Given the description of an element on the screen output the (x, y) to click on. 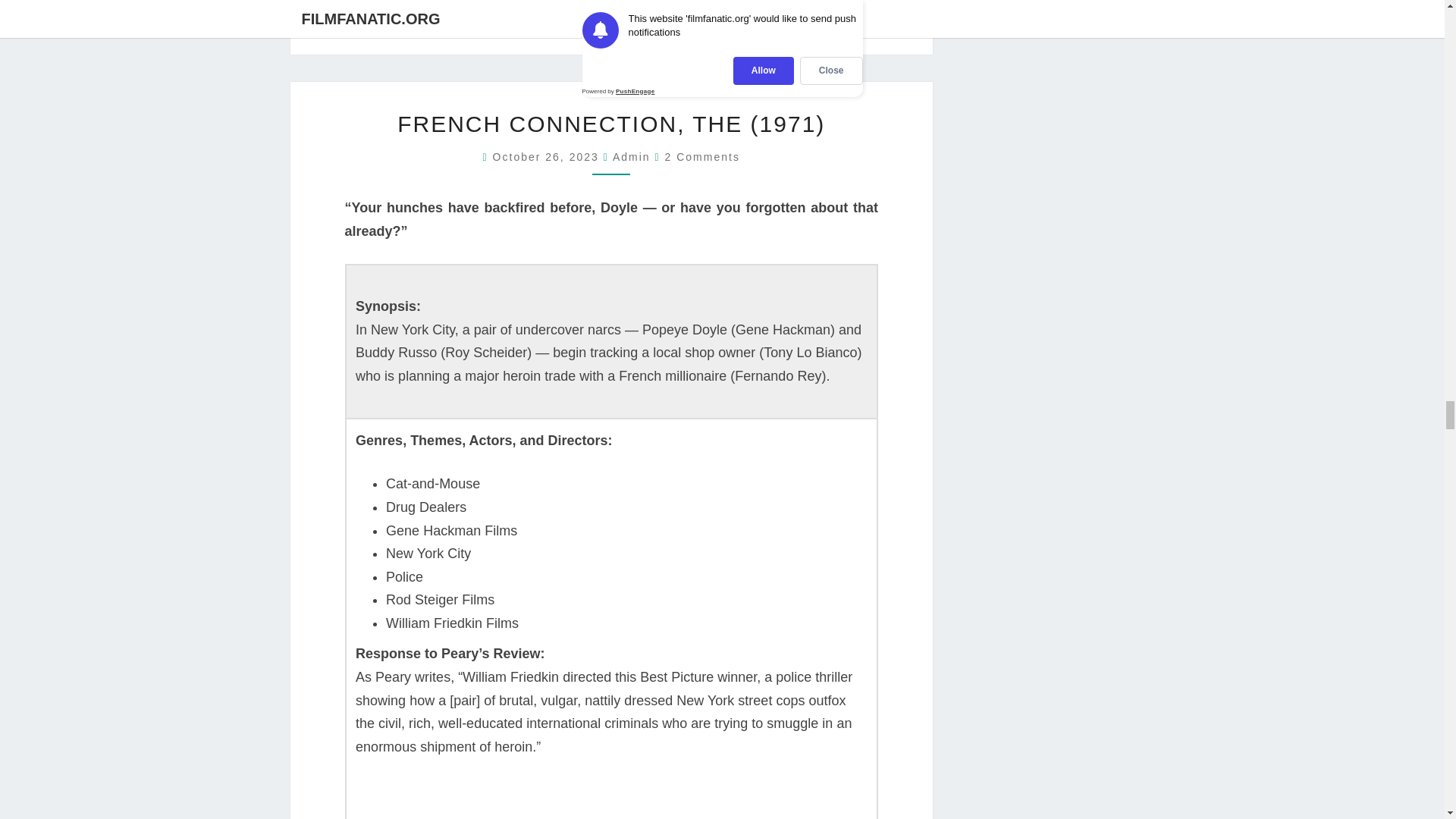
11:32 am (548, 156)
View all posts by admin (631, 156)
